Given the description of an element on the screen output the (x, y) to click on. 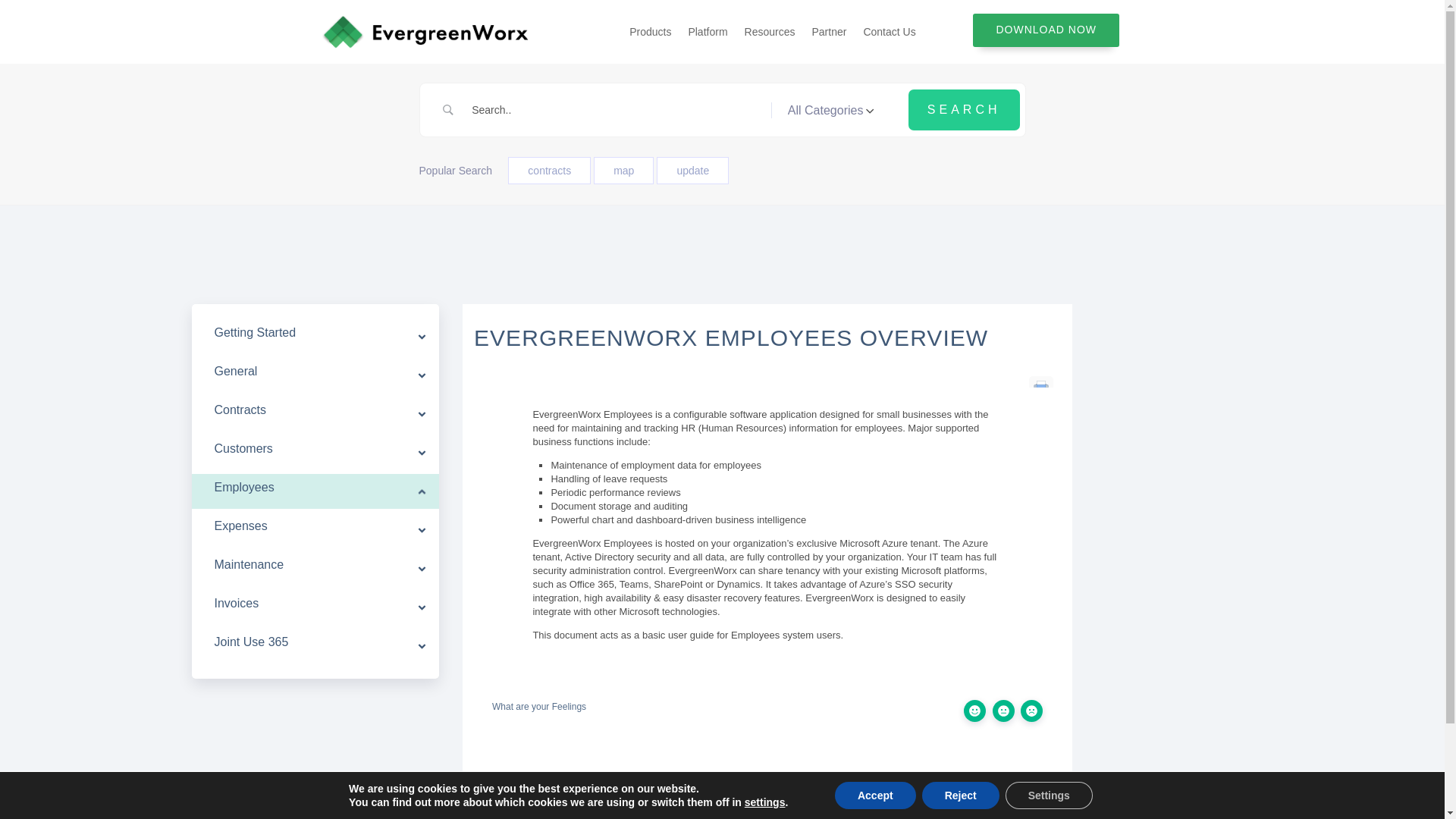
DOWNLOAD NOW (1045, 29)
Search (964, 109)
Contact Us (889, 31)
Search (964, 109)
Search (964, 109)
